Given the description of an element on the screen output the (x, y) to click on. 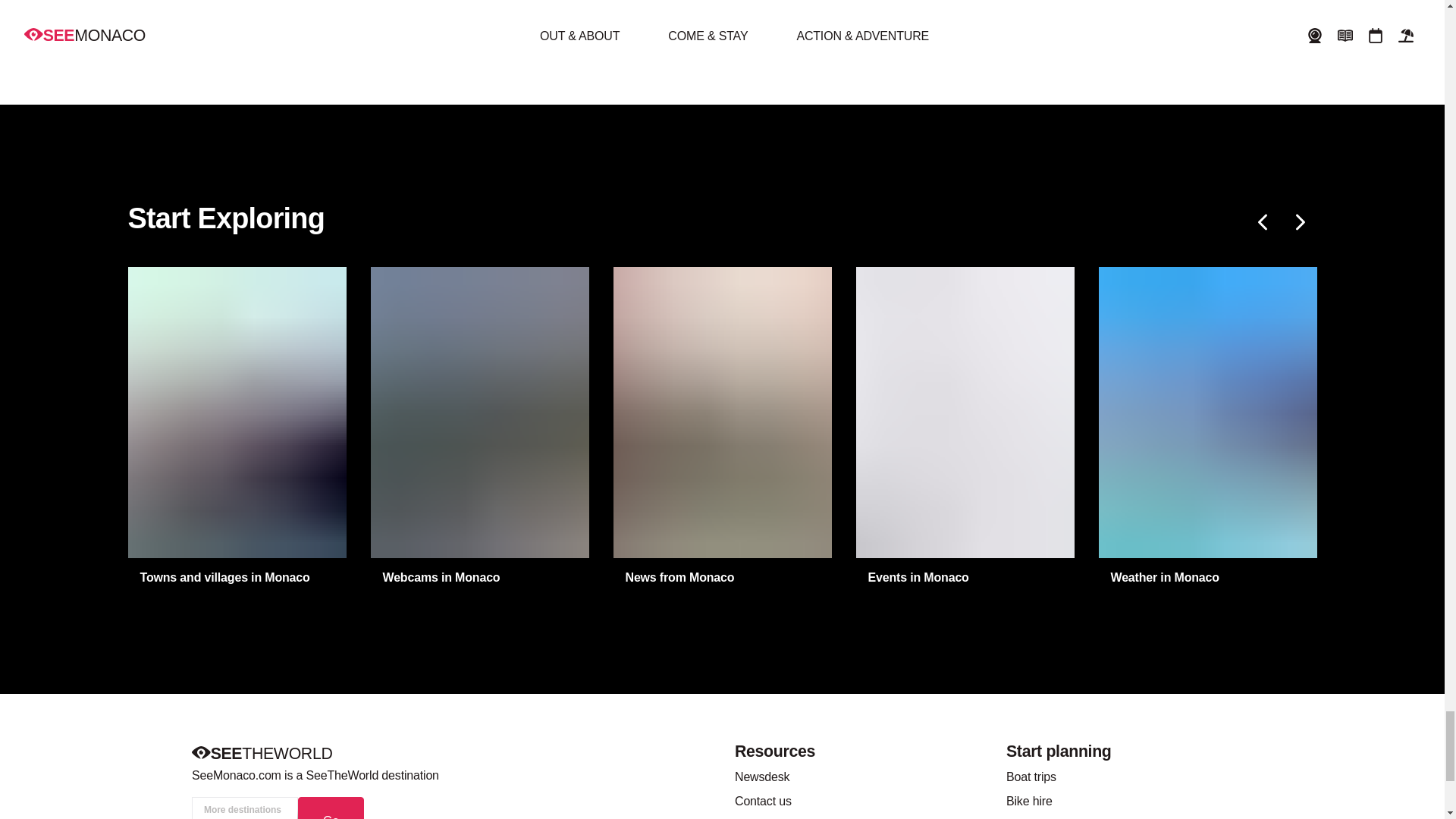
SeeTheWorld.com (260, 754)
